Given the description of an element on the screen output the (x, y) to click on. 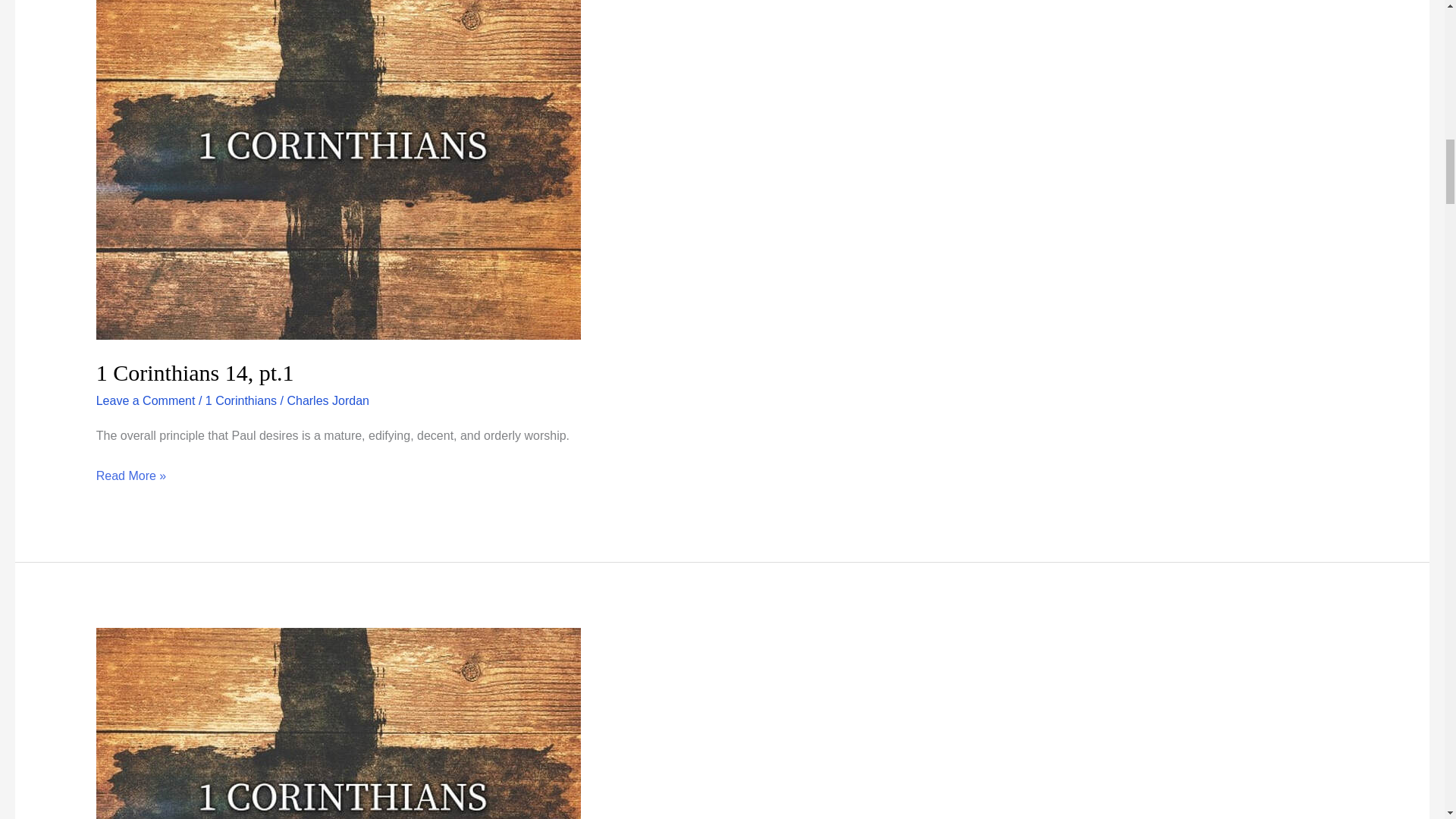
View all posts by Charles Jordan (327, 400)
